Given the description of an element on the screen output the (x, y) to click on. 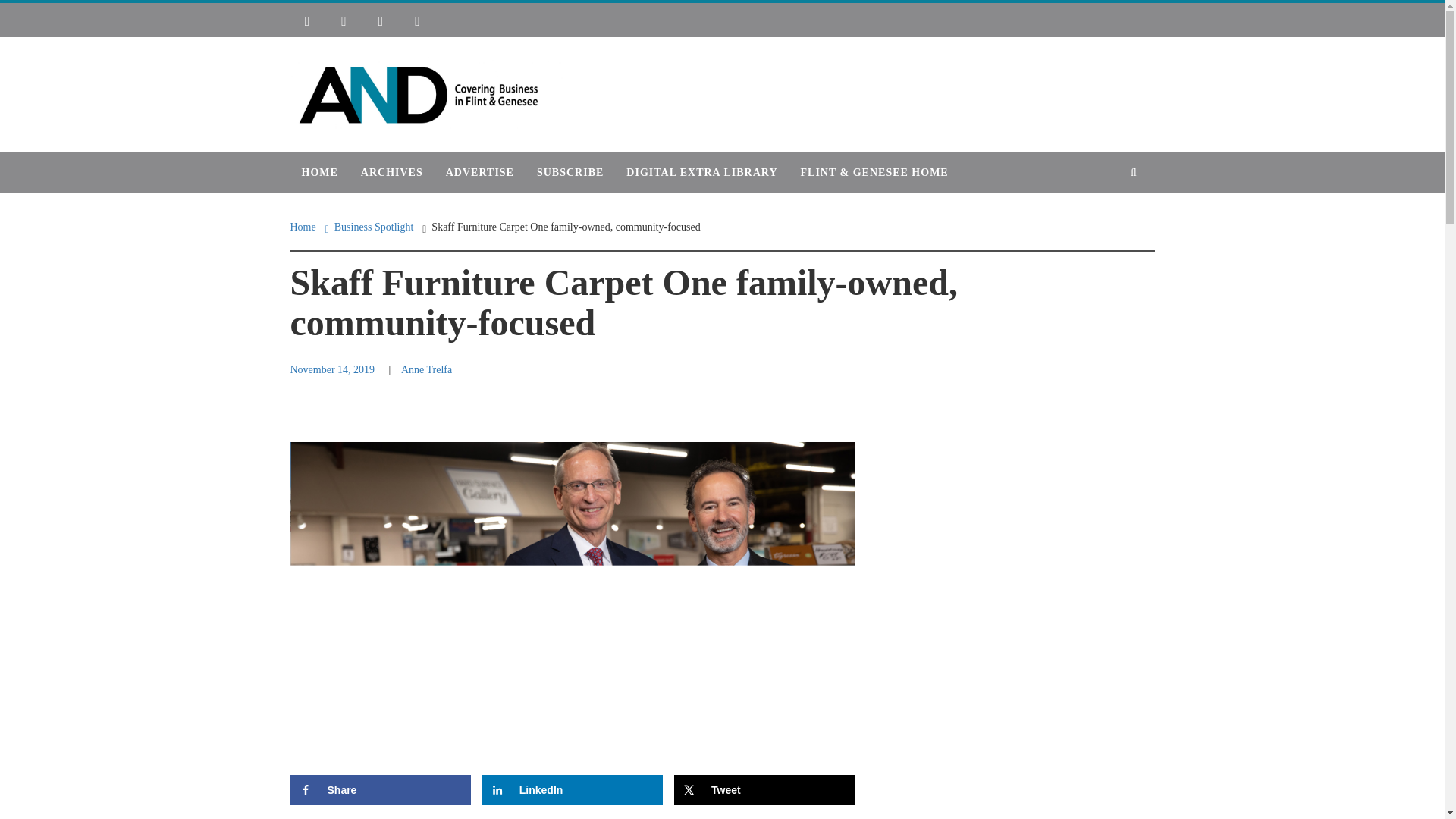
ARCHIVES (391, 172)
Share on LinkedIn (571, 789)
HOME (319, 172)
Share on Facebook (379, 789)
Share on X (764, 789)
AND Magazine (385, 75)
